Given the description of an element on the screen output the (x, y) to click on. 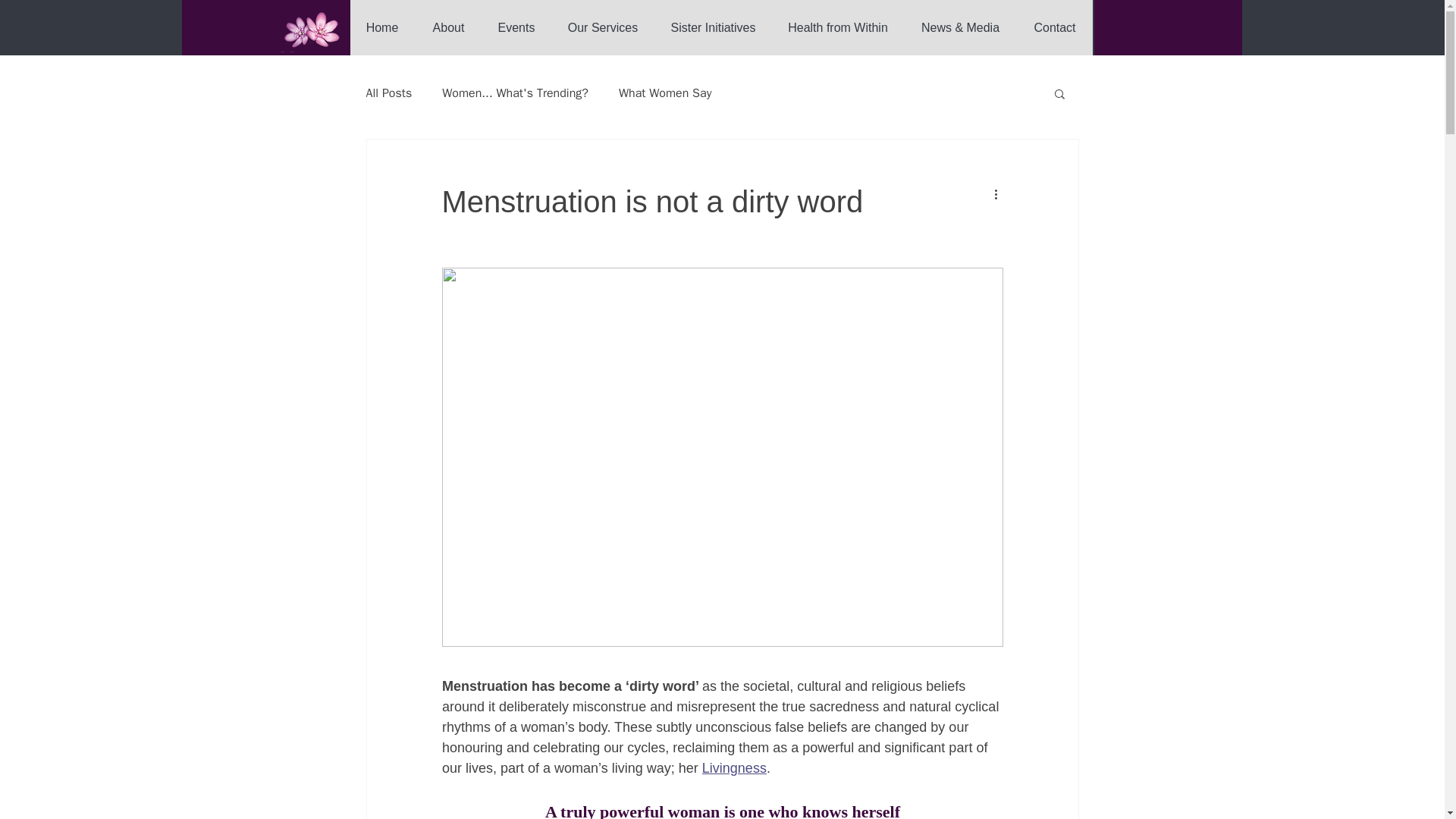
Sister Initiatives (712, 27)
All Posts (388, 92)
What Women Say (664, 92)
Home (381, 27)
Contact (1054, 27)
Our Services (601, 27)
Events (515, 27)
Livingness (733, 767)
About (447, 27)
Health from Within (837, 27)
Women... What's Trending? (515, 92)
